Given the description of an element on the screen output the (x, y) to click on. 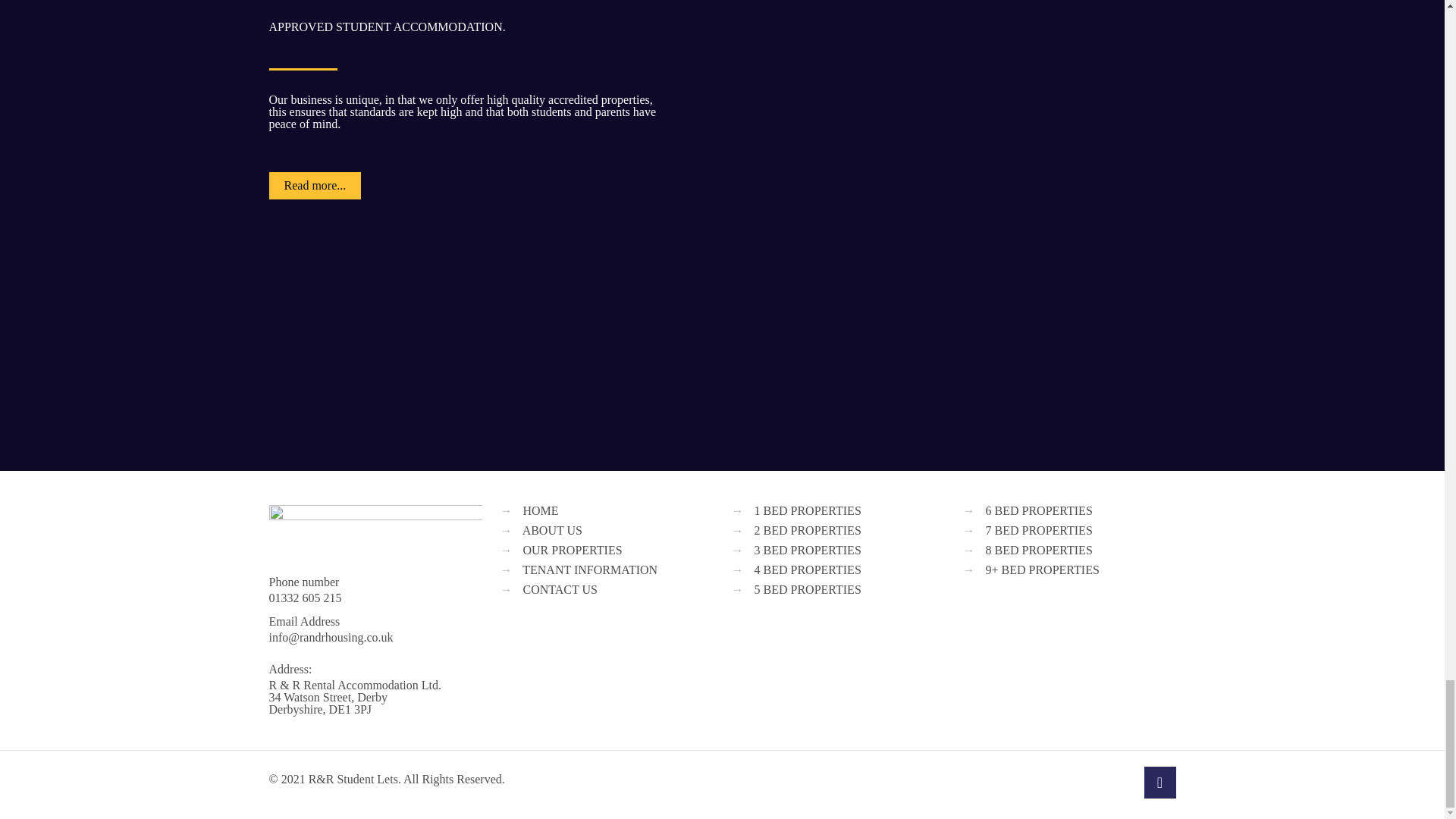
CONTACT US (559, 589)
TENANT INFORMATION (590, 569)
3 BED PROPERTIES (807, 549)
OUR PROPERTIES (572, 549)
ABOUT US (552, 530)
4 BED PROPERTIES (807, 569)
HOME (540, 510)
Read more... (314, 185)
1 BED PROPERTIES (807, 510)
2 BED PROPERTIES (807, 530)
